Given the description of an element on the screen output the (x, y) to click on. 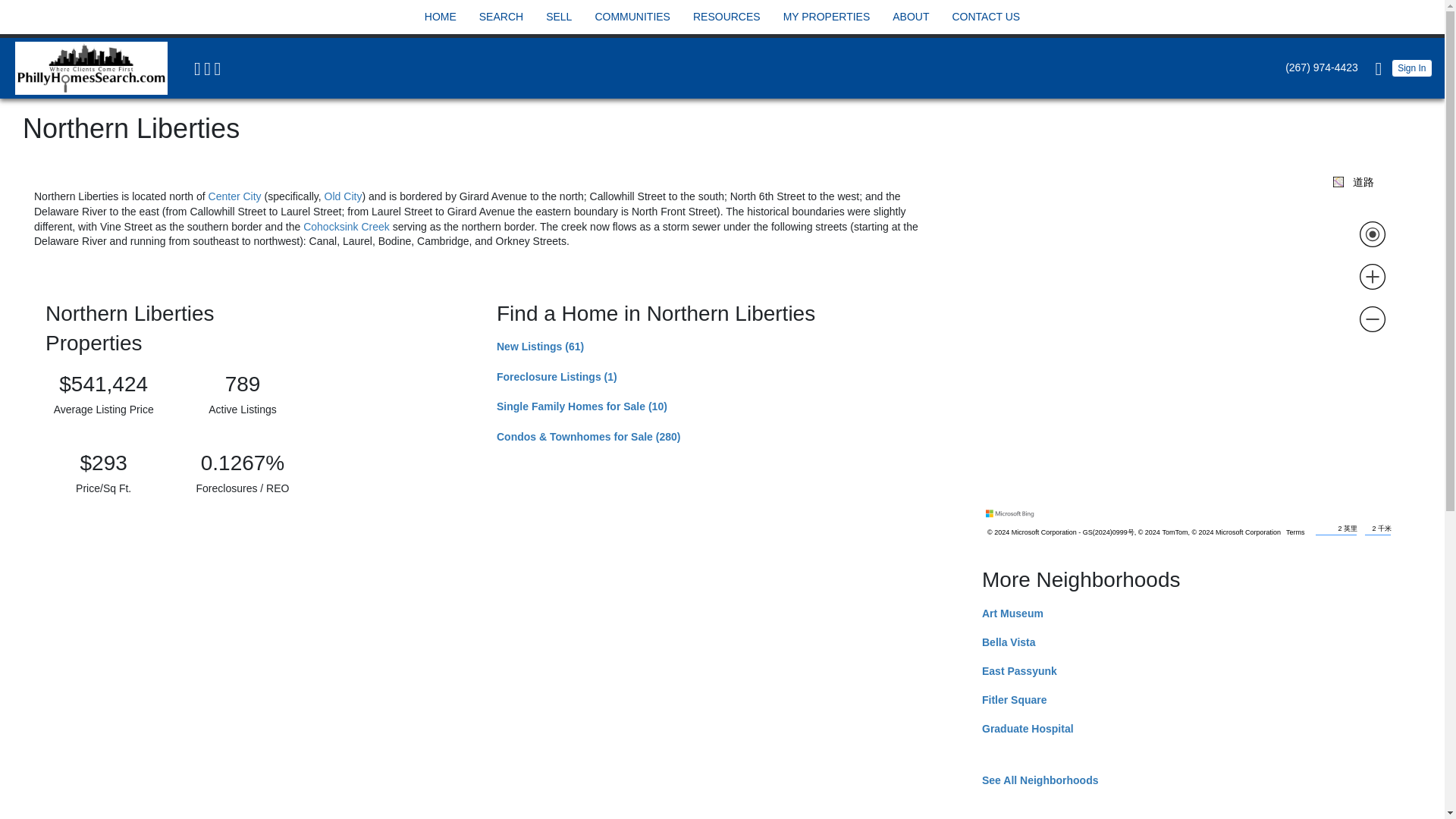
Old City, Philadelphia, Pennsylvania (343, 196)
HOME (440, 17)
Microsoft Bing (1011, 513)
COMMUNITIES (632, 17)
Cohocksink Creek (346, 226)
Sign In (1411, 67)
ABOUT (910, 17)
SELL (558, 17)
CONTACT US (985, 17)
Center City, Philadelphia, Pennsylvania (235, 196)
